Given the description of an element on the screen output the (x, y) to click on. 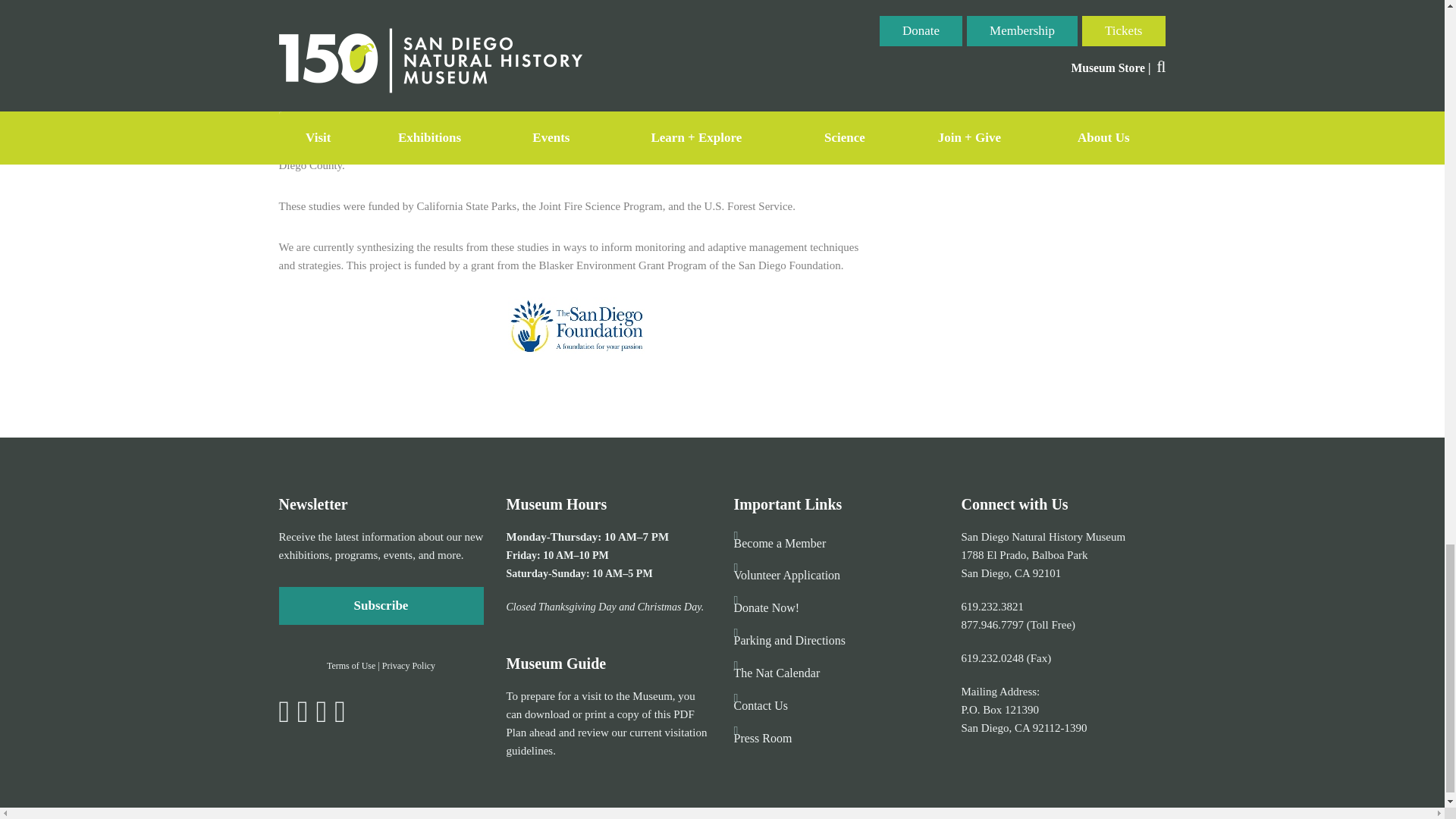
Subscribe (381, 605)
